Given the description of an element on the screen output the (x, y) to click on. 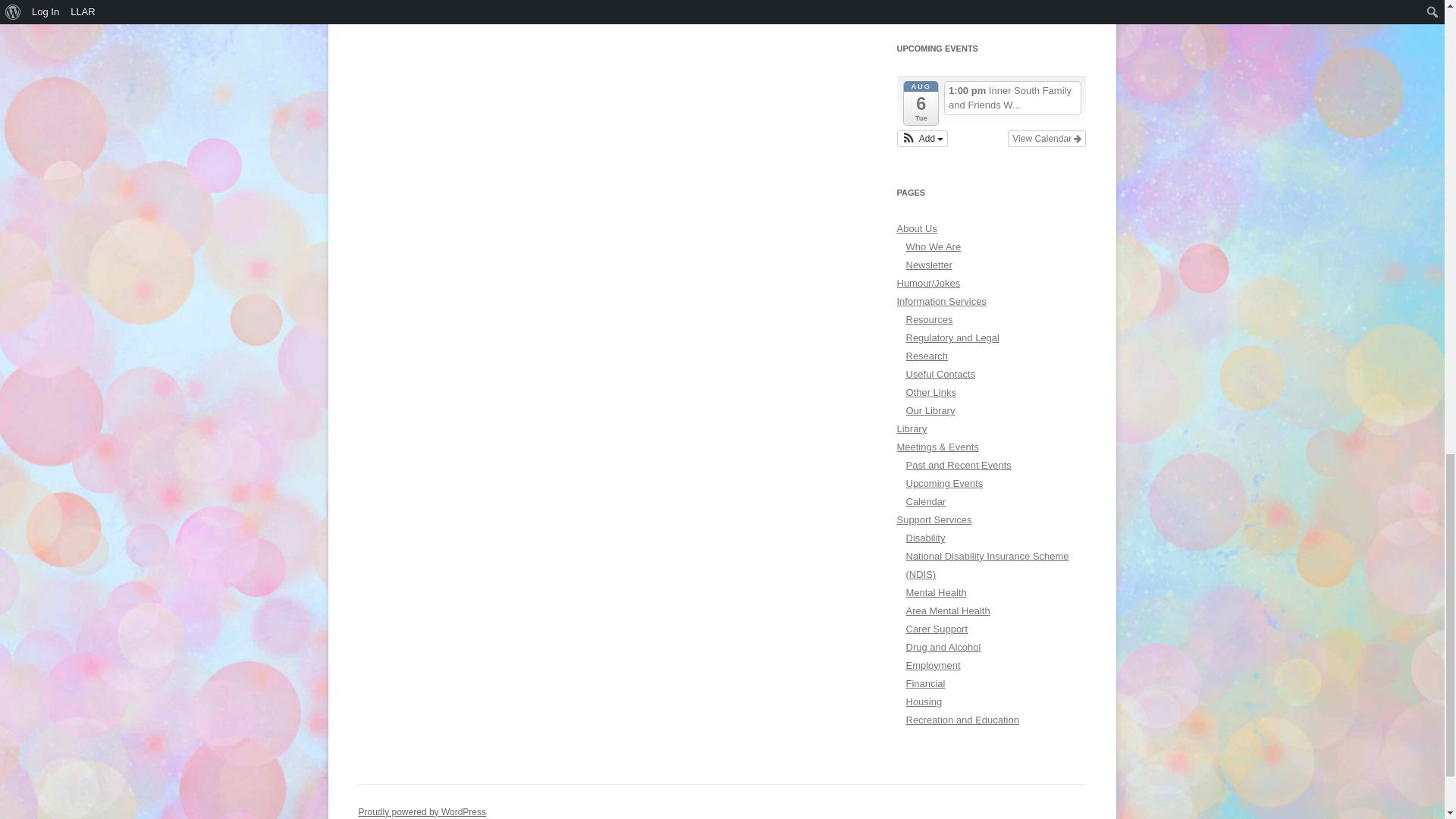
Semantic Personal Publishing Platform (422, 811)
